Given the description of an element on the screen output the (x, y) to click on. 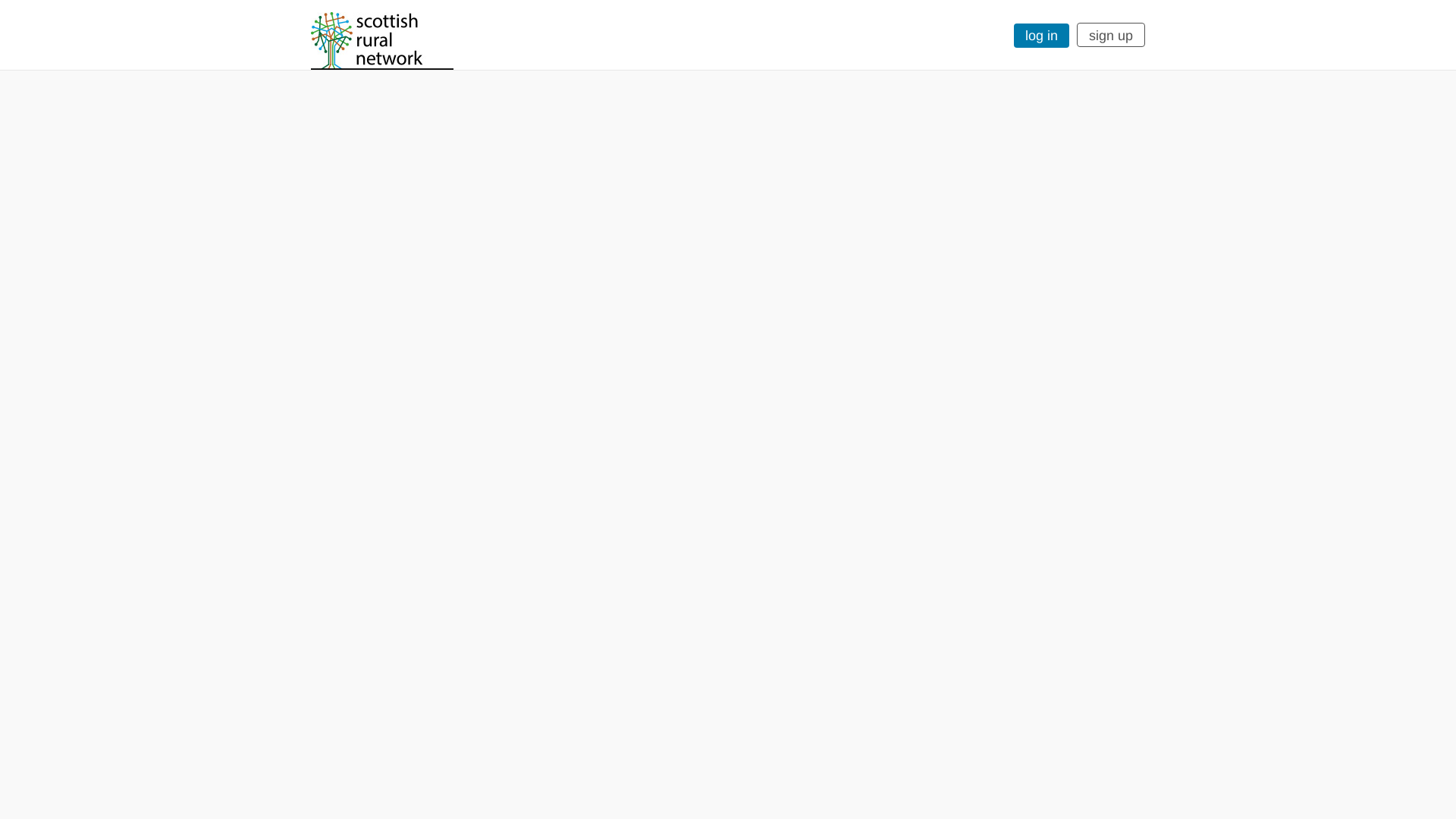
sign up (1110, 34)
log in (1040, 35)
Scottish Rural Network (381, 40)
